Given the description of an element on the screen output the (x, y) to click on. 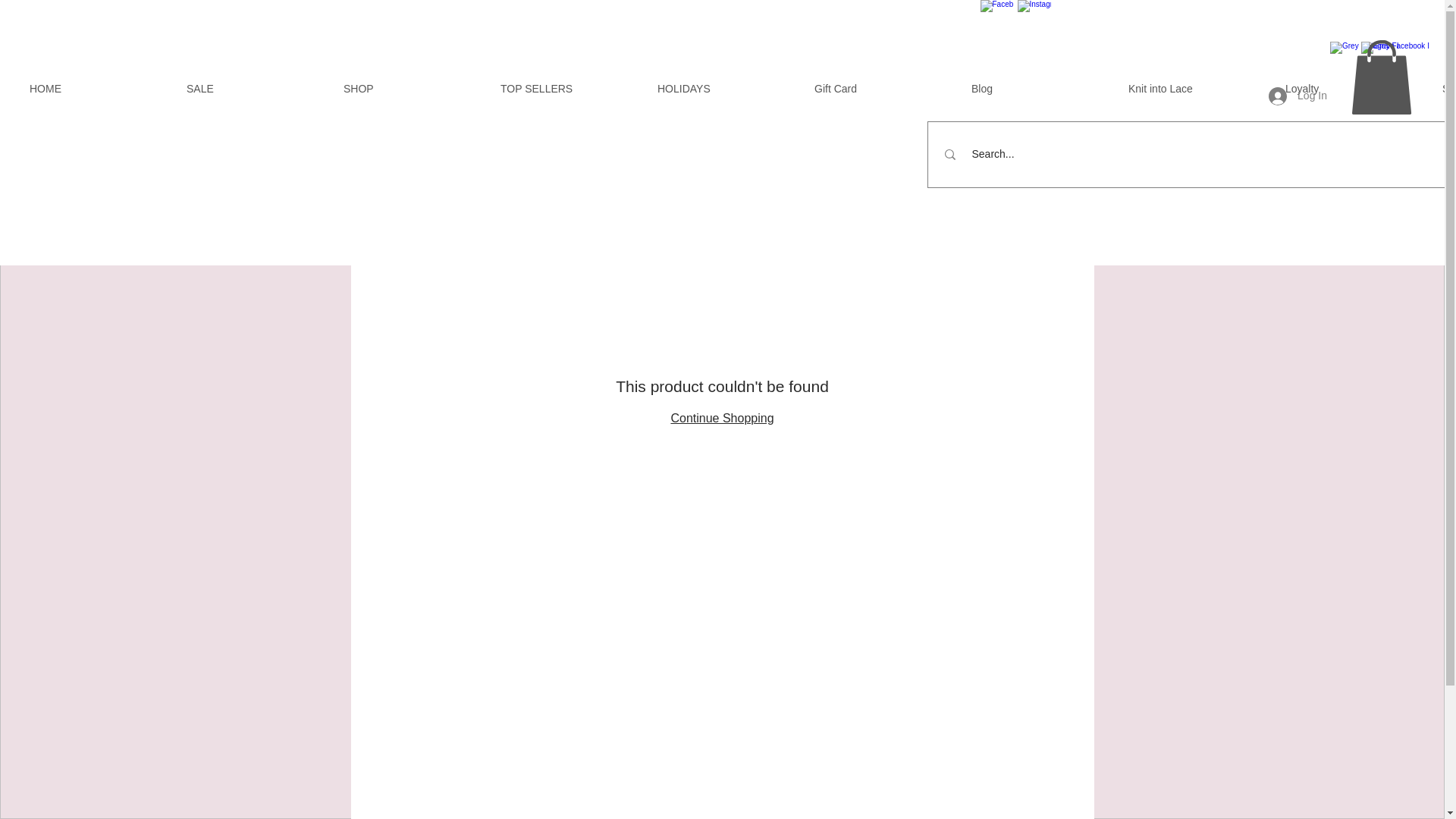
Log In (1297, 95)
HOLIDAYS (724, 88)
Loyalty (1352, 88)
HOME (95, 88)
Gift Card (881, 88)
TOP SELLERS (567, 88)
Knit into Lace (1195, 88)
Blog (1037, 88)
SHOP (410, 88)
SALE (252, 88)
